Given the description of an element on the screen output the (x, y) to click on. 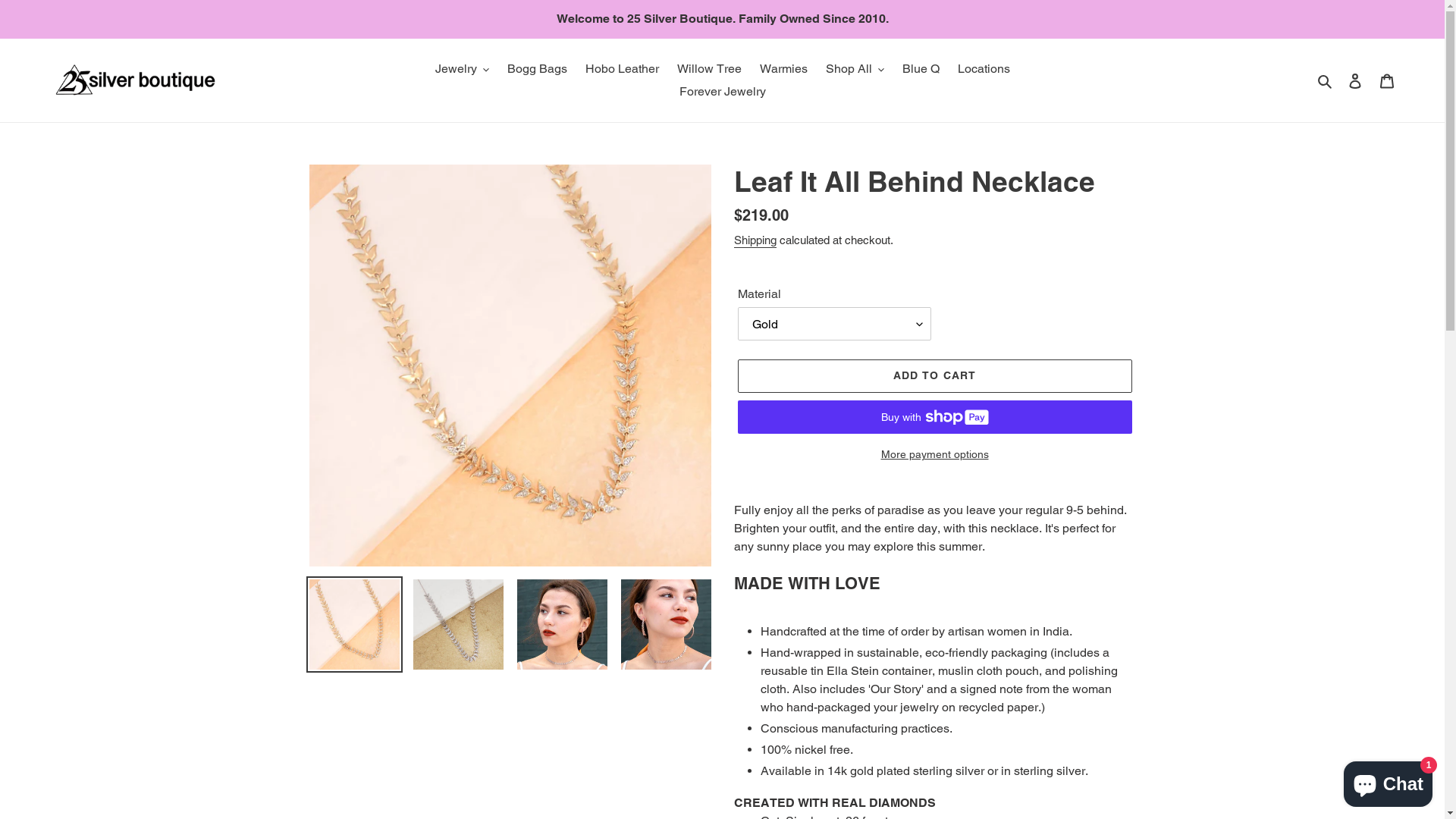
Bogg Bags Element type: text (536, 68)
Hobo Leather Element type: text (621, 68)
Shop All Element type: text (854, 68)
ADD TO CART Element type: text (934, 375)
Log in Element type: text (1355, 80)
More payment options Element type: text (934, 454)
Cart Element type: text (1386, 80)
Warmies Element type: text (783, 68)
Search Element type: text (1325, 80)
Jewelry Element type: text (461, 68)
Locations Element type: text (982, 68)
Forever Jewelry Element type: text (722, 91)
Welcome to 25 Silver Boutique. Family Owned Since 2010. Element type: text (722, 18)
Willow Tree Element type: text (708, 68)
Shopify online store chat Element type: hover (1388, 780)
Shipping Element type: text (755, 240)
Blue Q Element type: text (920, 68)
